Given the description of an element on the screen output the (x, y) to click on. 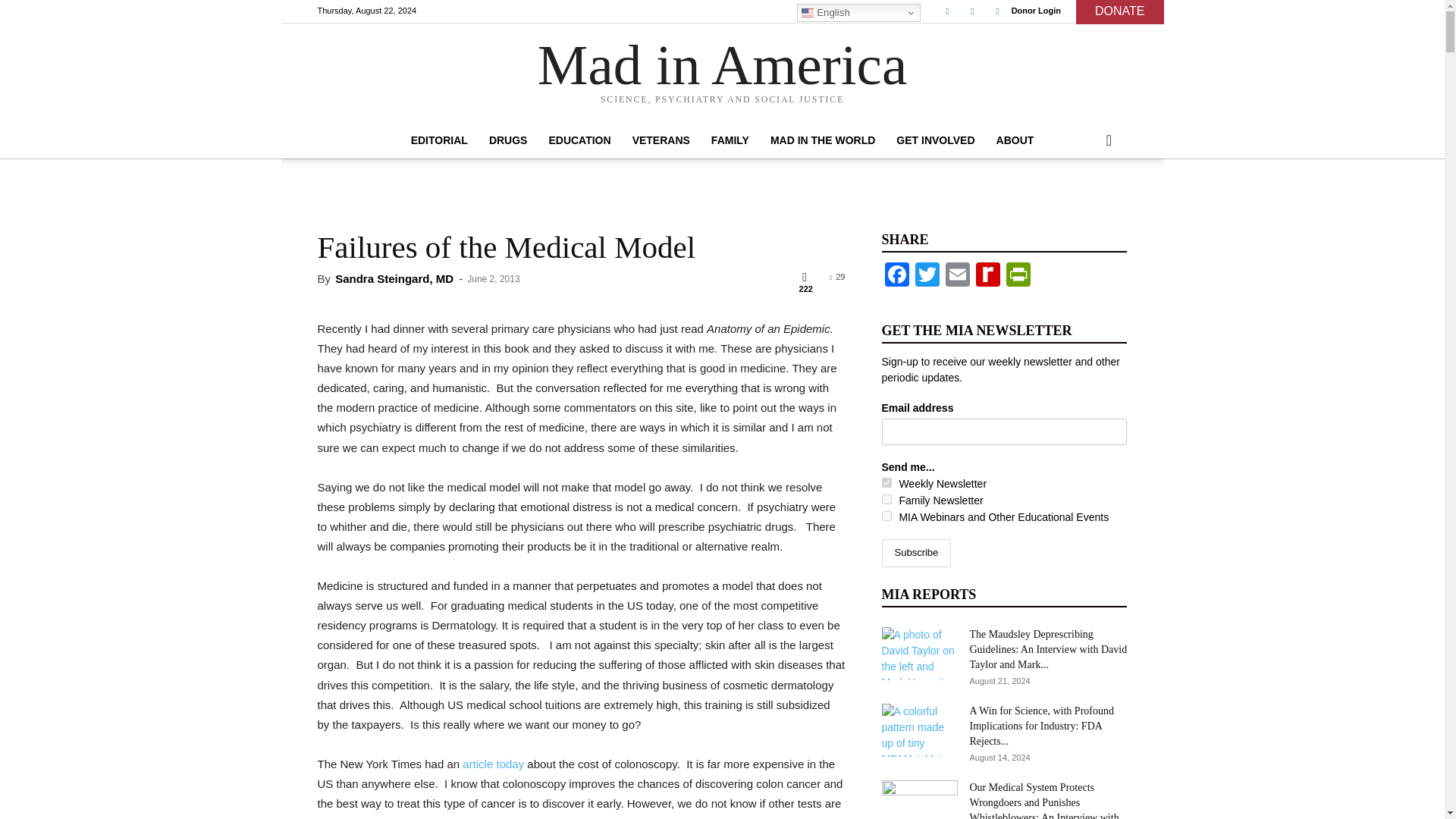
Twitter (972, 10)
Facebook (947, 10)
Subscribe (915, 552)
64ec82b4cd (885, 499)
Youtube (998, 10)
59a3706891 (885, 515)
a8b577bac2 (885, 482)
